Given the description of an element on the screen output the (x, y) to click on. 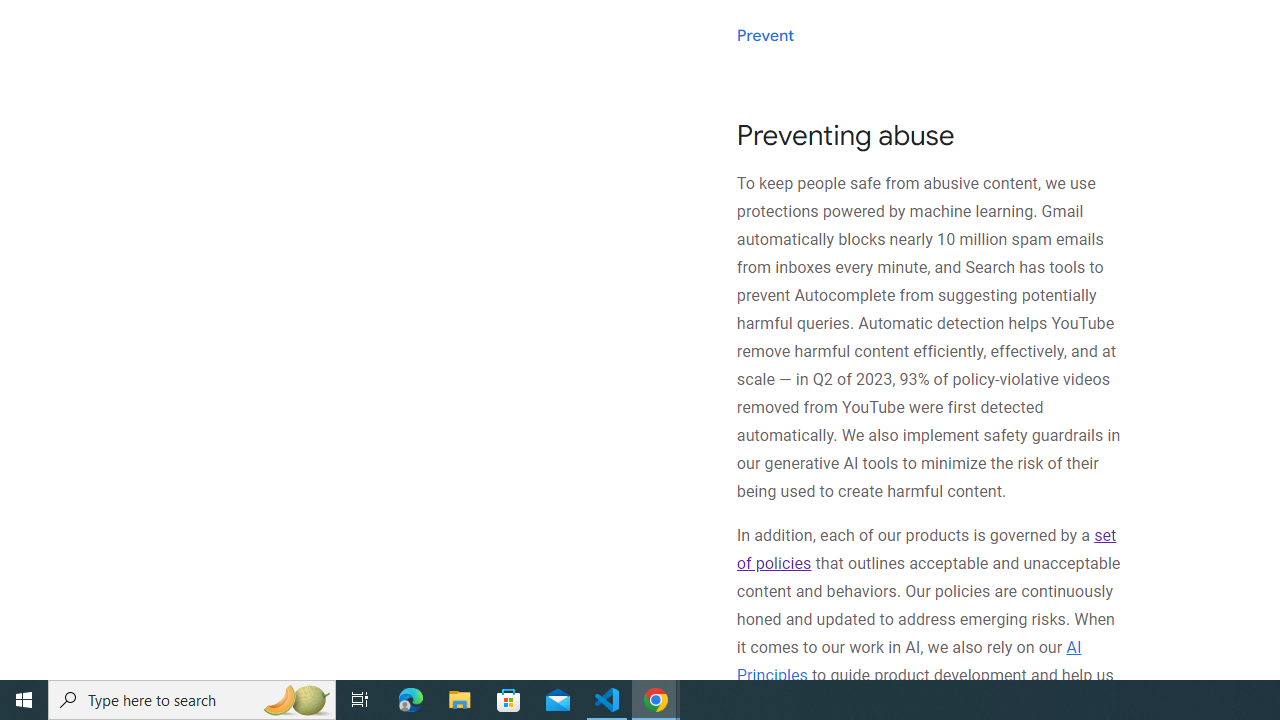
set of policies (926, 549)
AI Principles (908, 660)
